Given the description of an element on the screen output the (x, y) to click on. 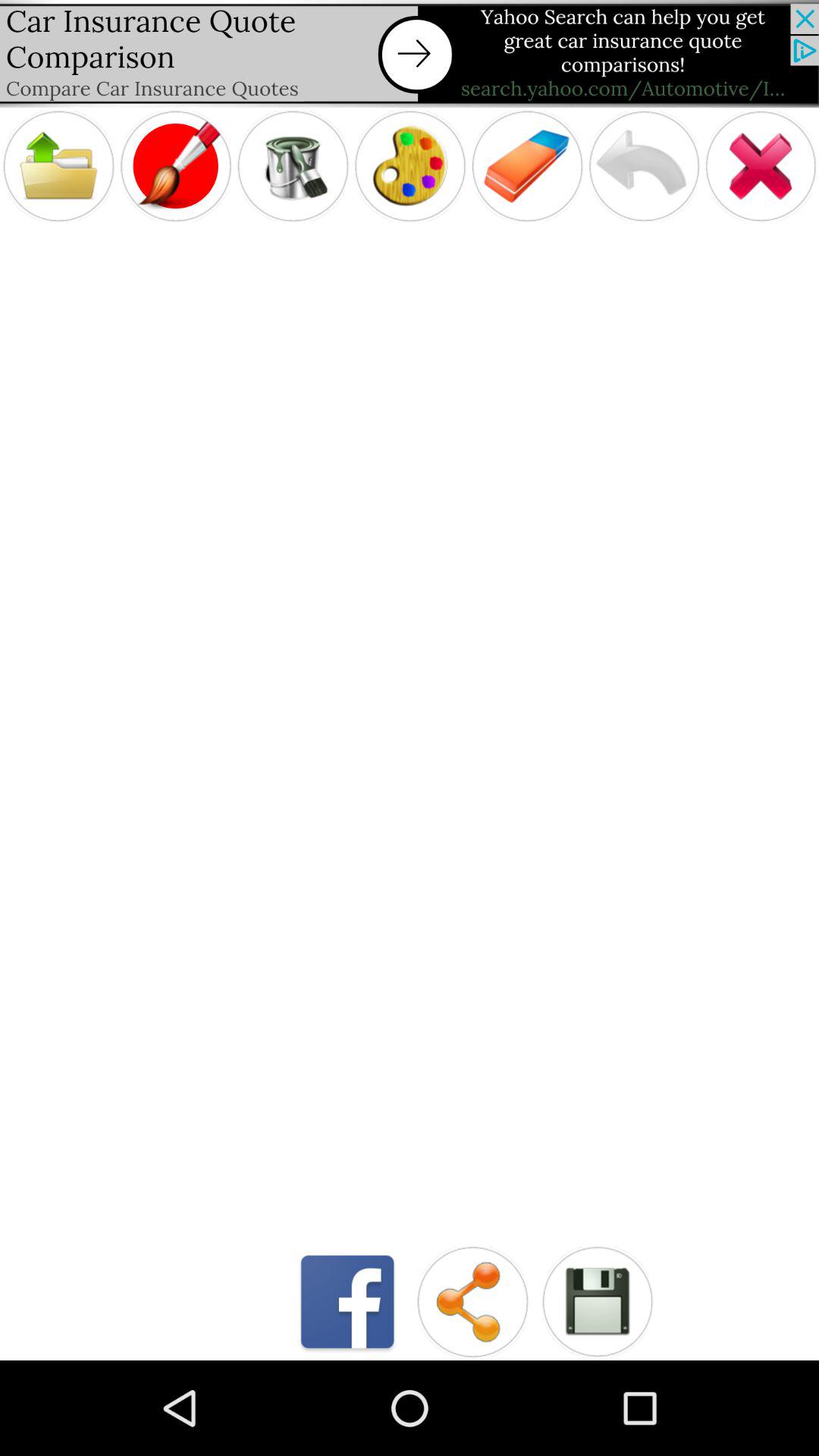
use paintbrush (175, 165)
